Given the description of an element on the screen output the (x, y) to click on. 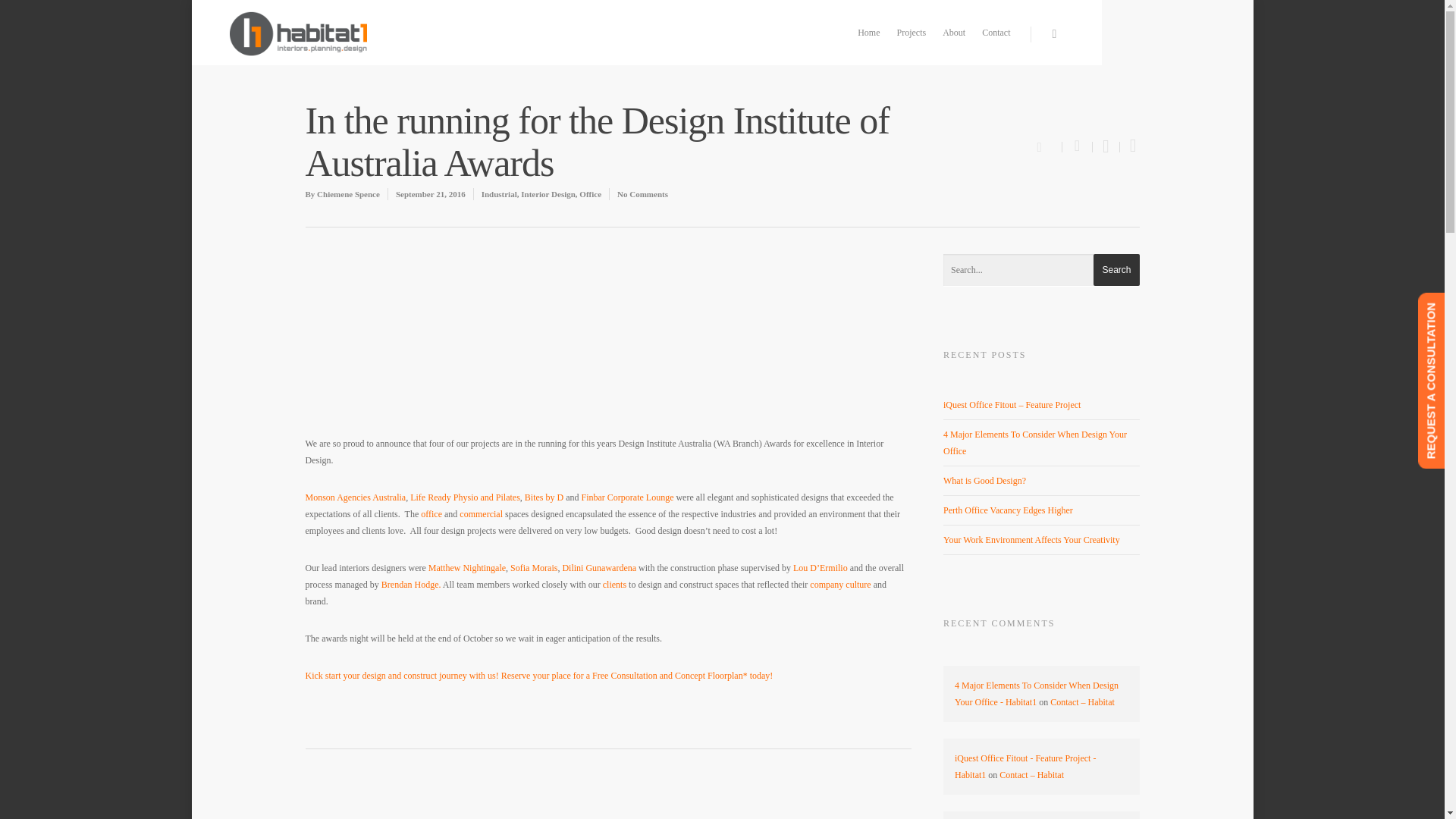
Chiemene Spence (348, 194)
Share this (1077, 146)
Office (590, 194)
Matthew Nightingale (466, 567)
Dilini Gunawardena (599, 567)
Brendan Hodge. (411, 584)
Industrial (498, 194)
Life Ready Physio and Pilates (464, 497)
Monson Agencies Australia (355, 497)
Bites by D (543, 497)
